Given the description of an element on the screen output the (x, y) to click on. 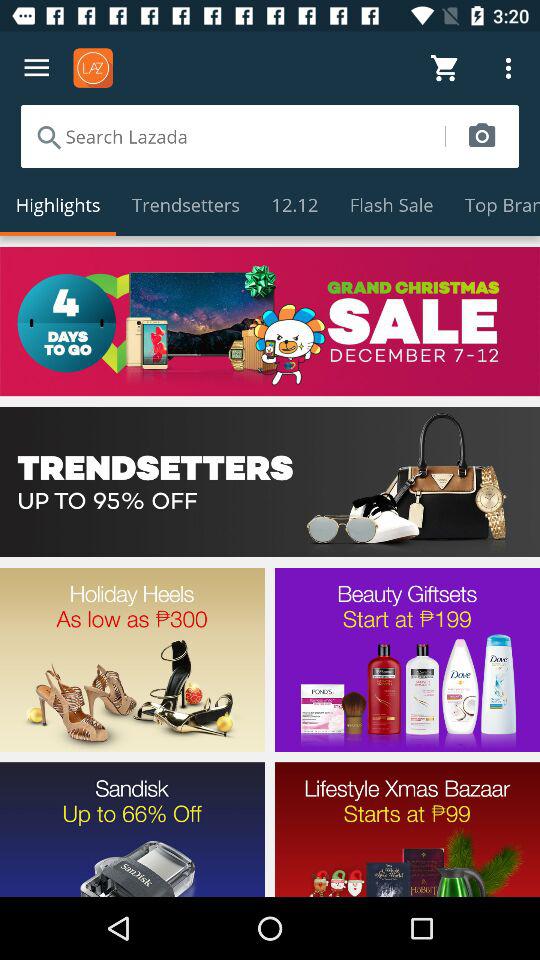
click banner (270, 481)
